Given the description of an element on the screen output the (x, y) to click on. 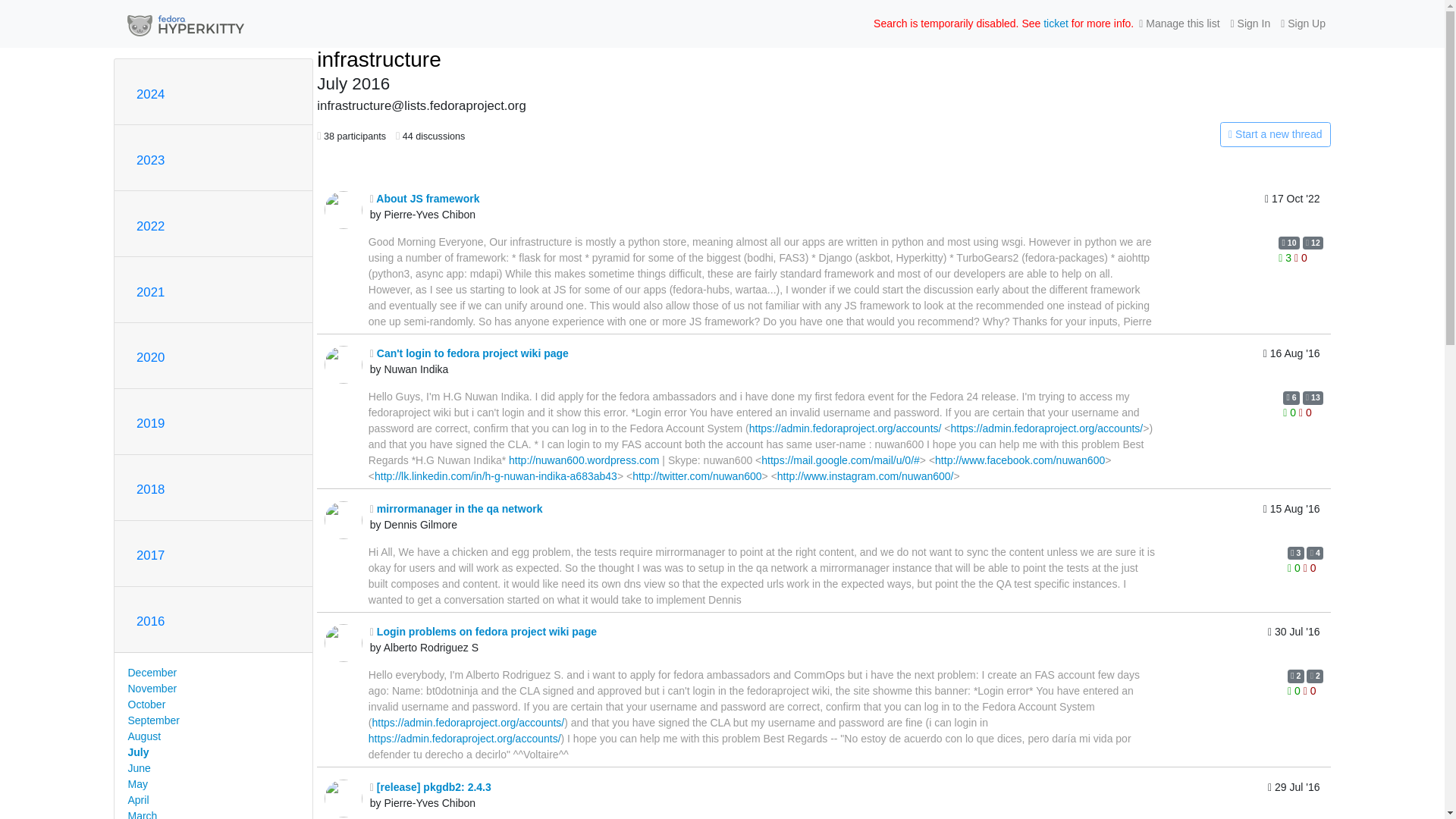
2023 (150, 160)
Sign In (1250, 23)
Fedora Mailing-Lists (184, 23)
You must be logged-in to vote. (1304, 412)
You must be logged-in to vote. (1290, 412)
Sign Up (1302, 23)
You must be logged-in to vote. (1286, 257)
Monday, 17 October 2022 14:28:09 (1292, 209)
ticket (1055, 23)
You must be logged-in to create a thread. (1162, 135)
